Given the description of an element on the screen output the (x, y) to click on. 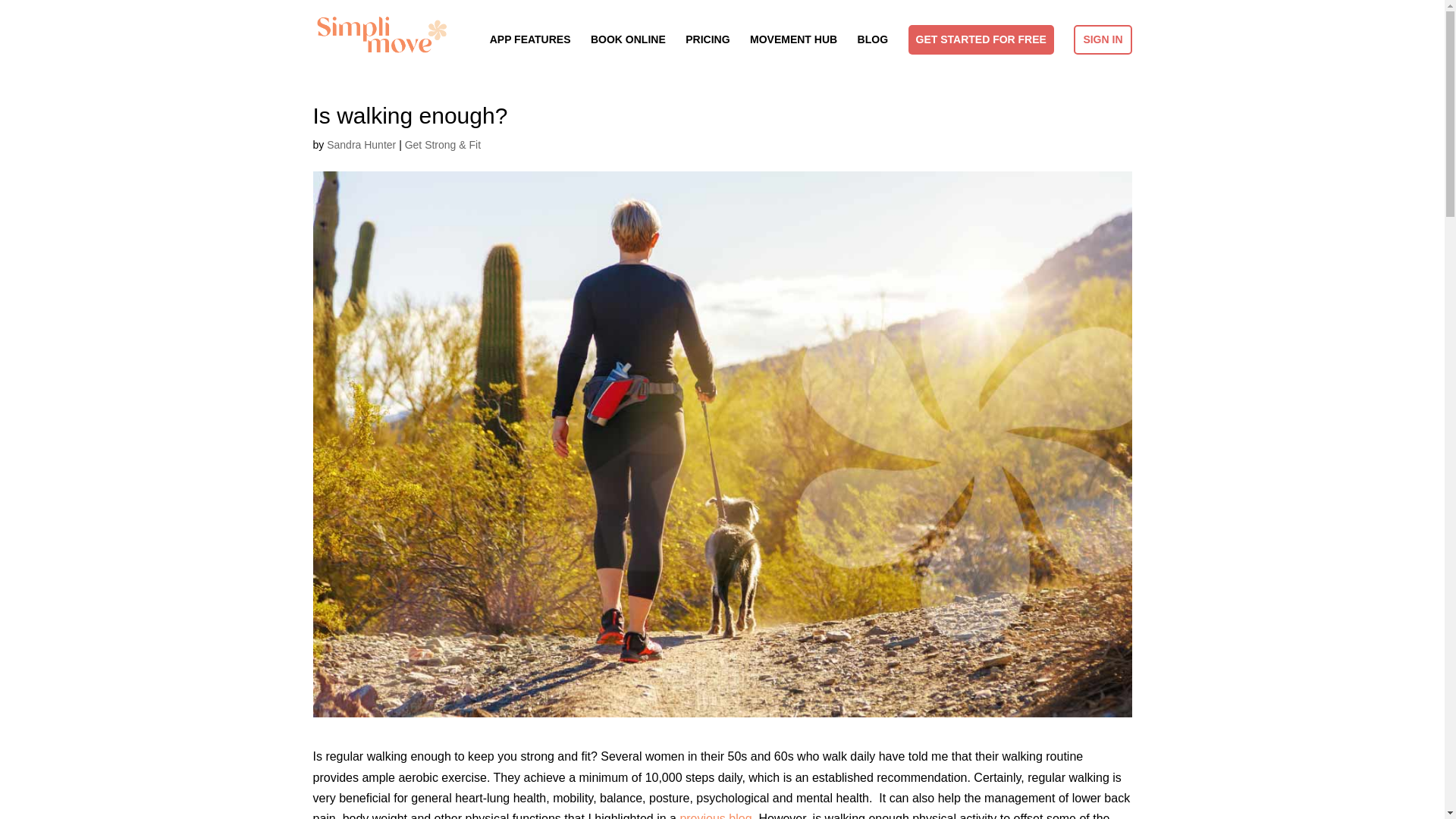
APP FEATURES (529, 51)
Posts by Sandra Hunter (361, 144)
previous blog (715, 815)
PRICING (707, 51)
SIGN IN (1102, 39)
MOVEMENT HUB (793, 51)
GET STARTED FOR FREE (981, 39)
Sandra Hunter (361, 144)
BOOK ONLINE (628, 51)
